Given the description of an element on the screen output the (x, y) to click on. 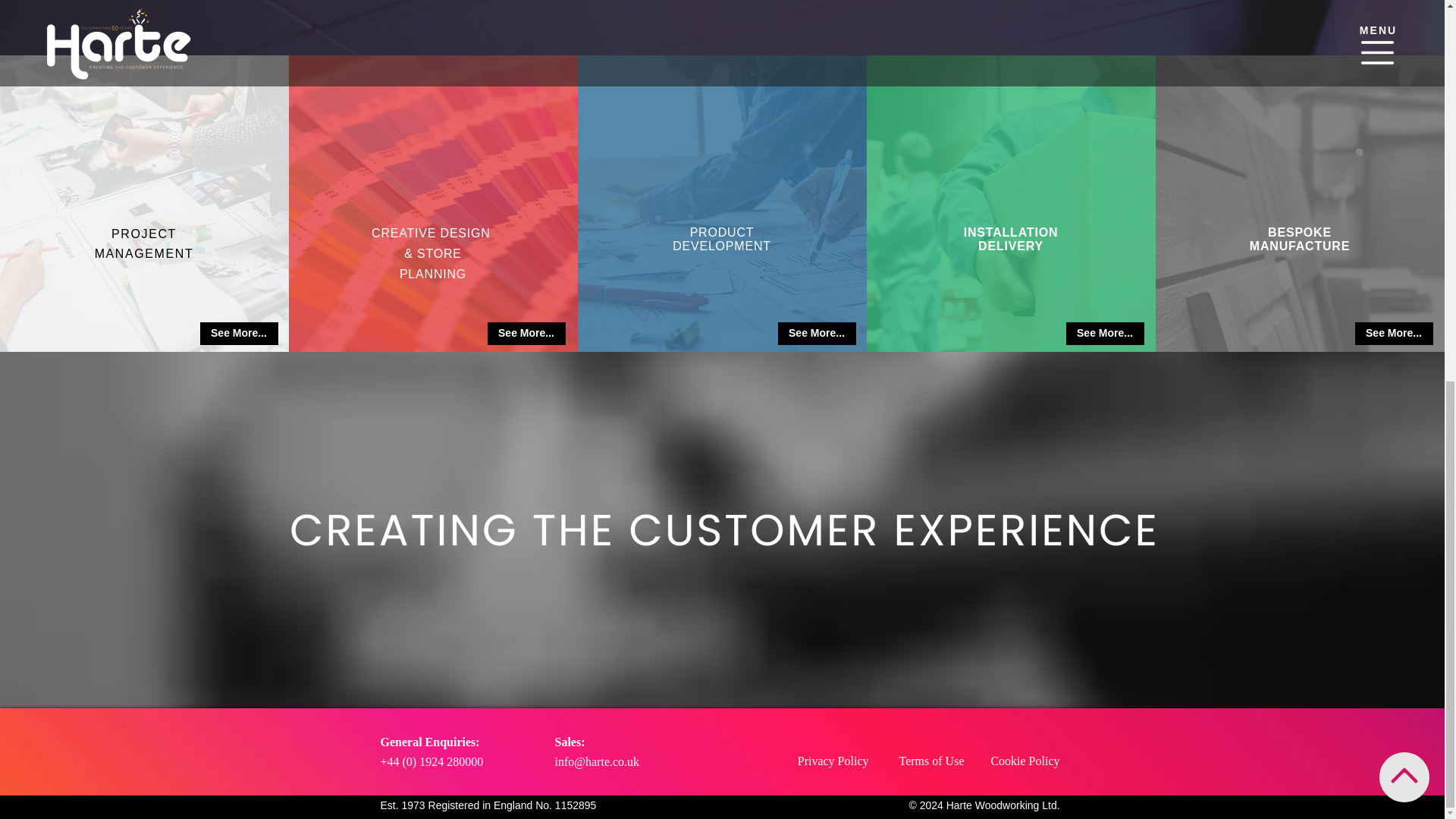
See More... (816, 333)
Privacy Policy (833, 760)
See More... (1393, 333)
Cookie Policy (1024, 760)
See More... (525, 333)
See More... (239, 333)
See More... (1104, 333)
Terms of Use (931, 760)
